Given the description of an element on the screen output the (x, y) to click on. 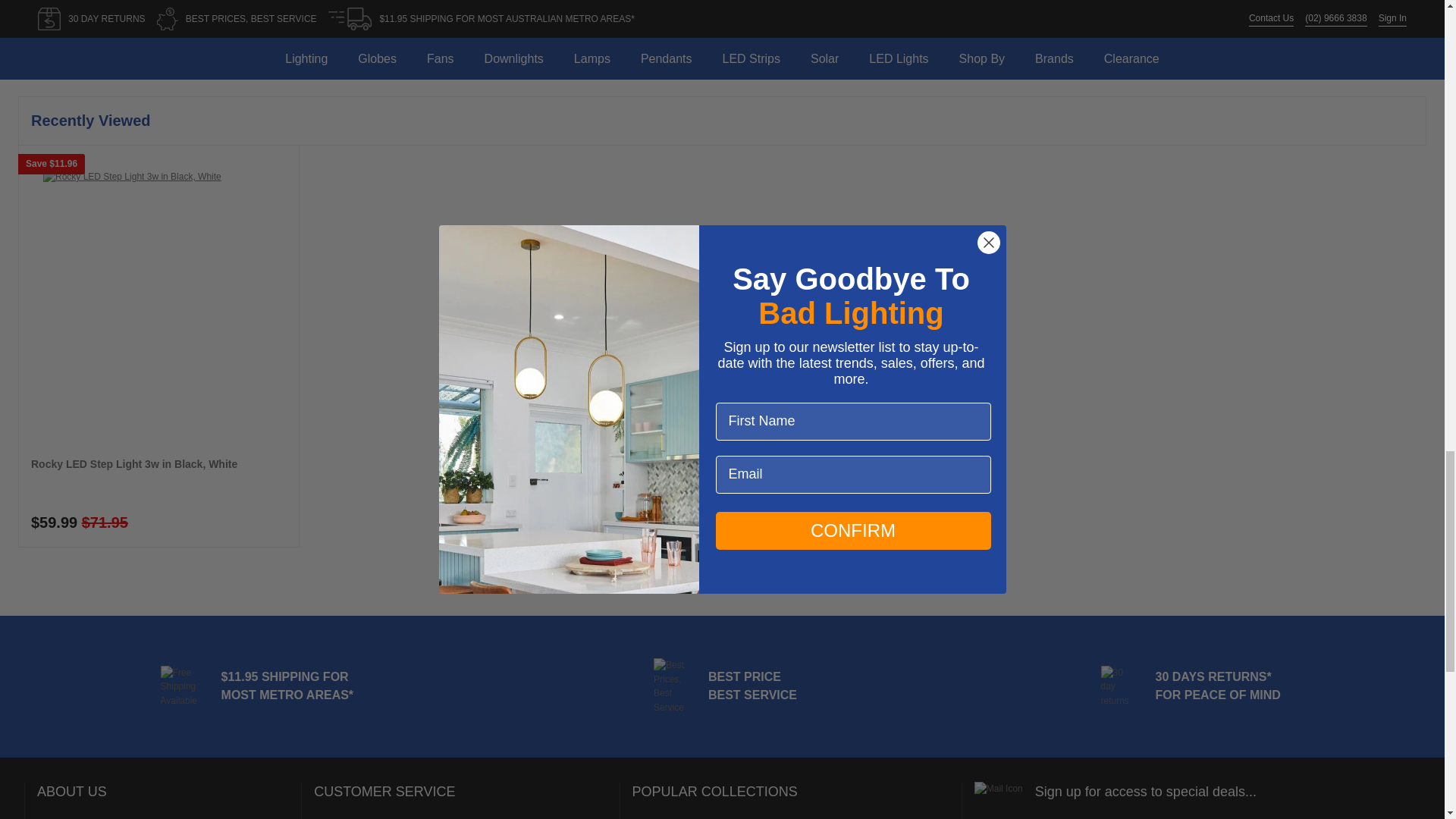
Rocky LED Step Light 3w in Black, White (133, 469)
